Given the description of an element on the screen output the (x, y) to click on. 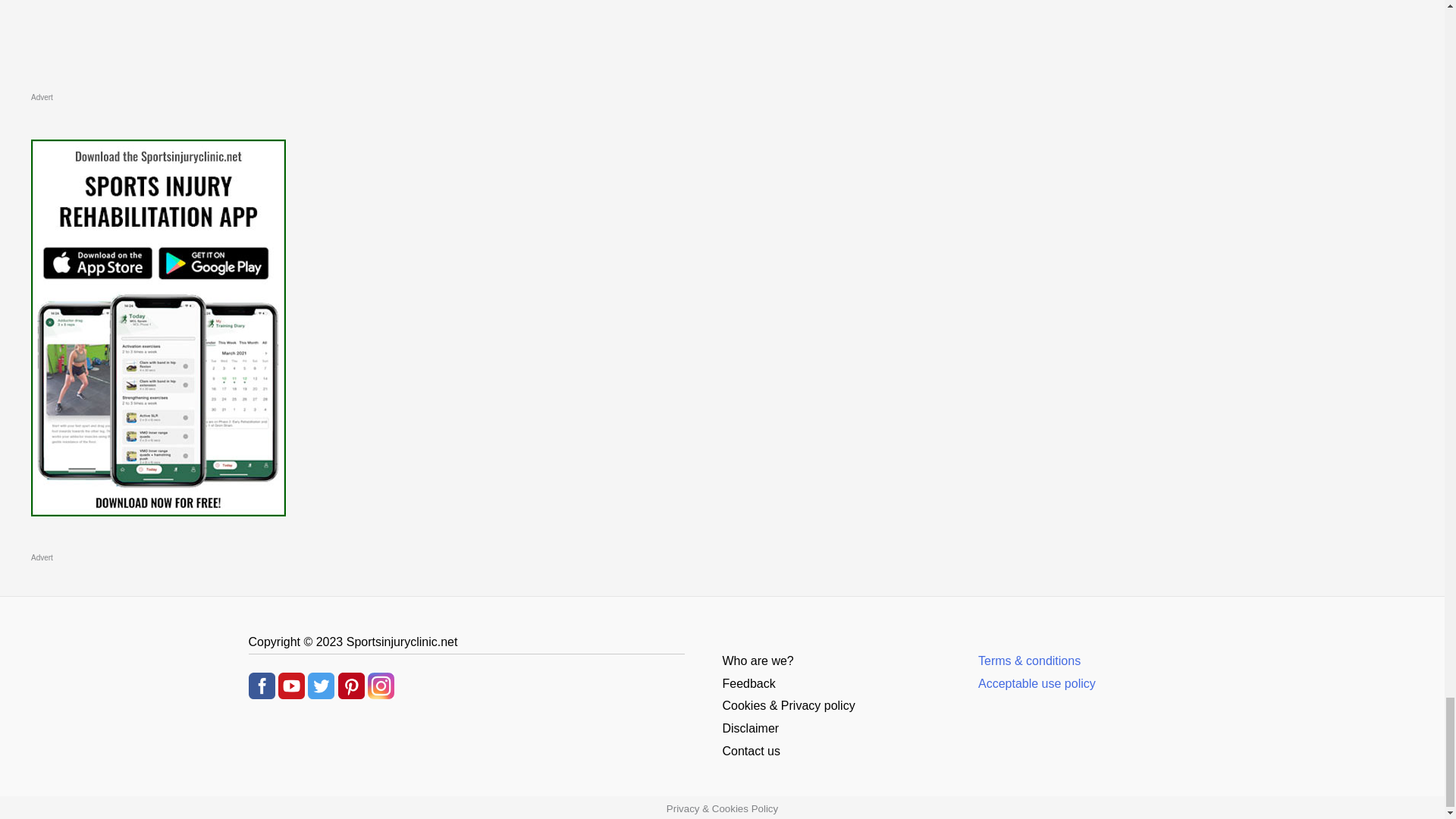
Youtubbe (291, 684)
Pinterest (351, 684)
Instagram (381, 684)
Facebook (261, 684)
Twitter (320, 684)
